Given the description of an element on the screen output the (x, y) to click on. 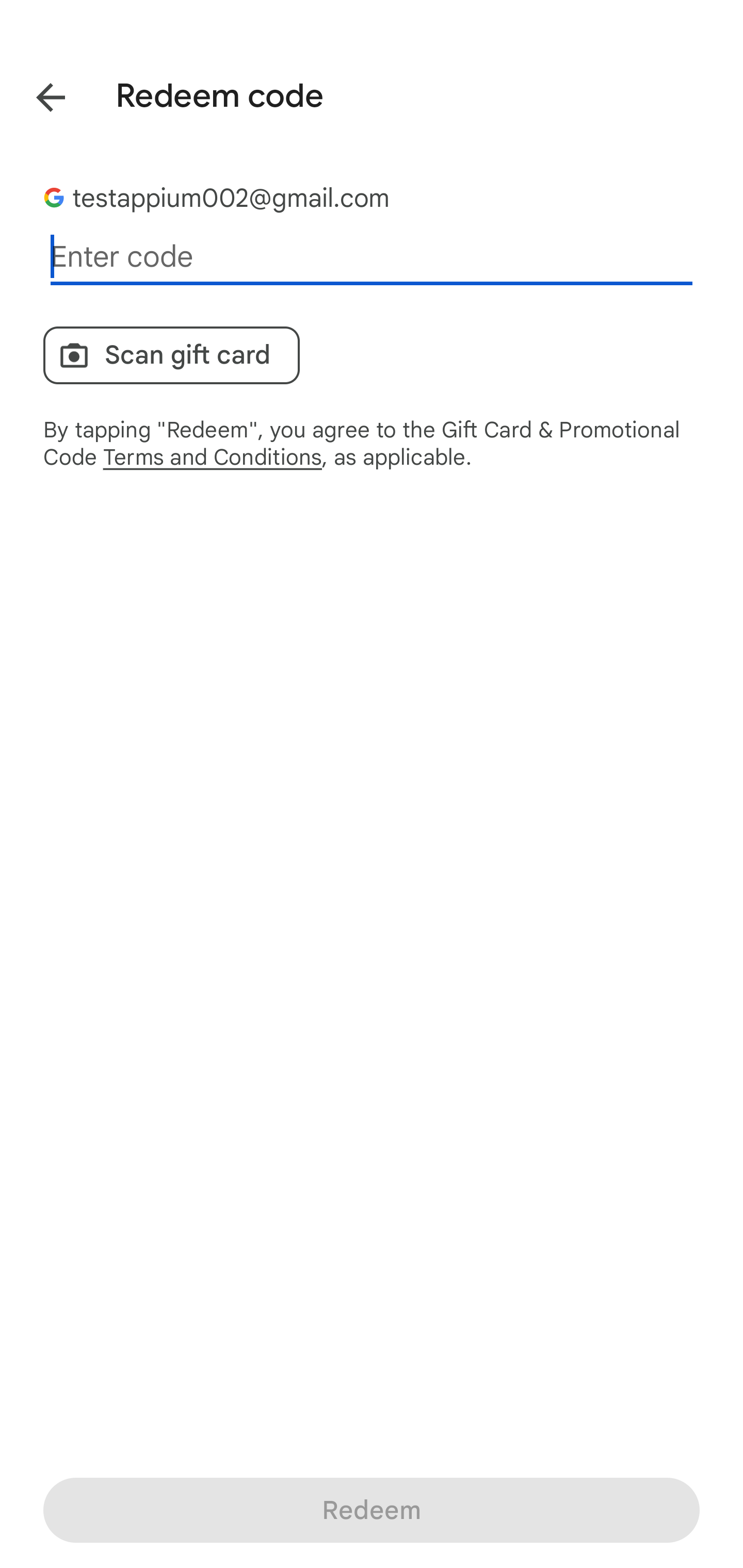
Back (36, 94)
Enter code (371, 256)
Scan gift card (171, 355)
